Given the description of an element on the screen output the (x, y) to click on. 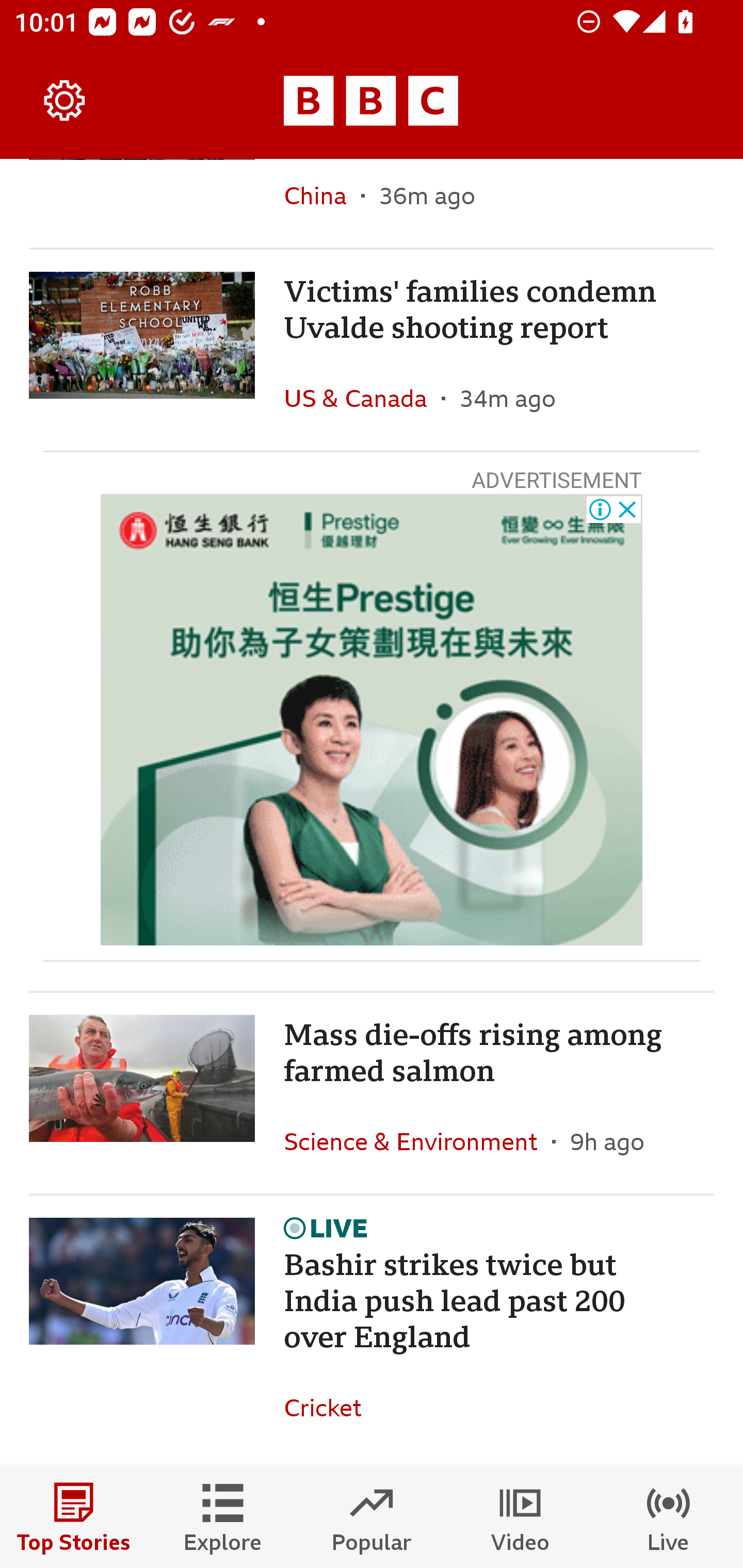
Settings (64, 100)
China In the section China (322, 202)
US & Canada In the section US & Canada (362, 398)
Advertisement (371, 719)
Cricket In the section Cricket (329, 1406)
Explore (222, 1517)
Popular (371, 1517)
Video (519, 1517)
Live (668, 1517)
